Given the description of an element on the screen output the (x, y) to click on. 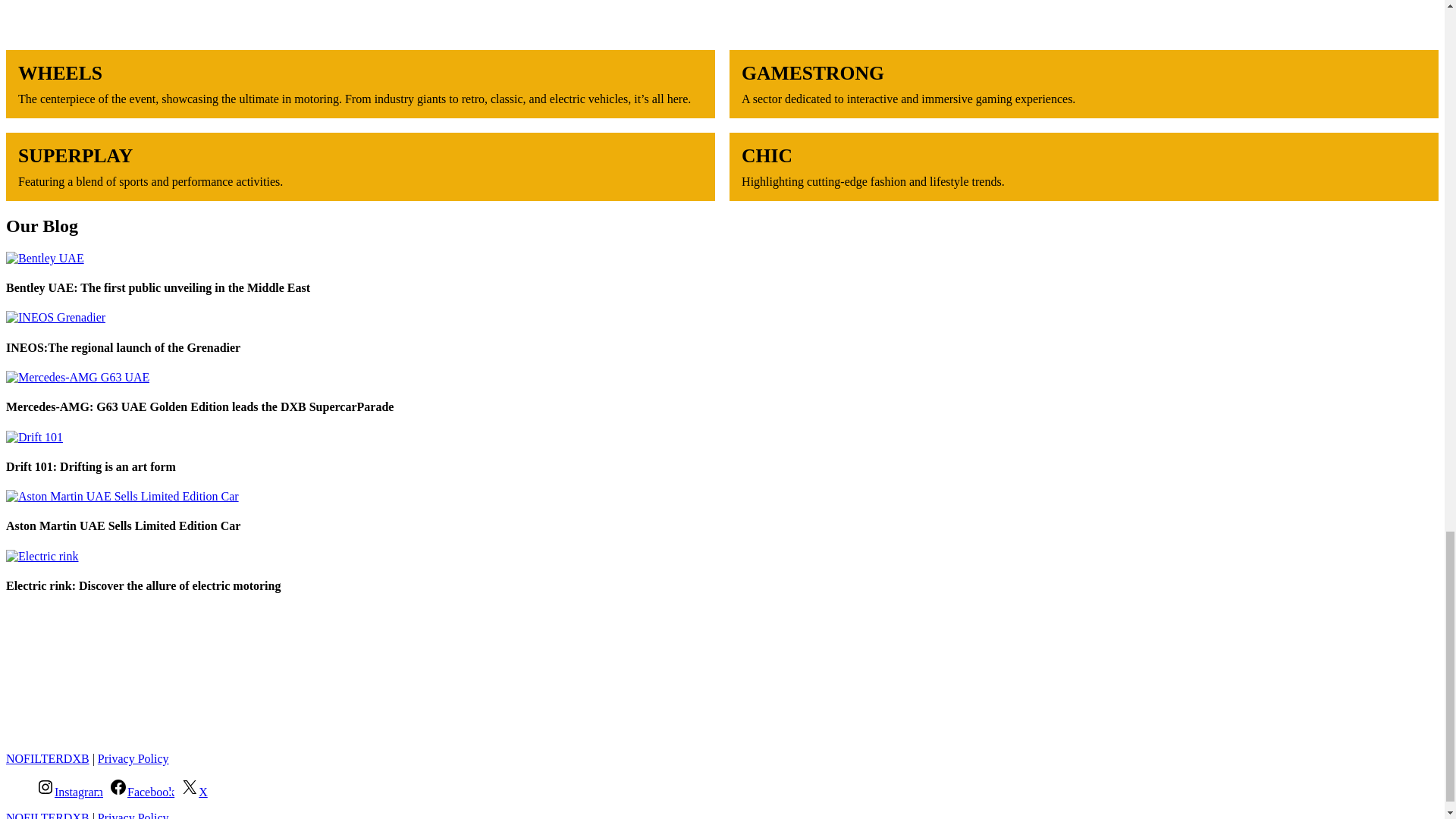
Facebook (141, 791)
INEOS:The regional launch of the Grenadier (122, 347)
Drift 101: Drifting is an art form (90, 466)
NOFILTERDXB (46, 758)
Aston Martin UAE Sells Limited Edition Car (122, 525)
Electric rink: Discover the allure of electric motoring (143, 585)
X (194, 791)
Instagram (69, 791)
Bentley UAE: The first public unveiling in the Middle East (157, 287)
